Given the description of an element on the screen output the (x, y) to click on. 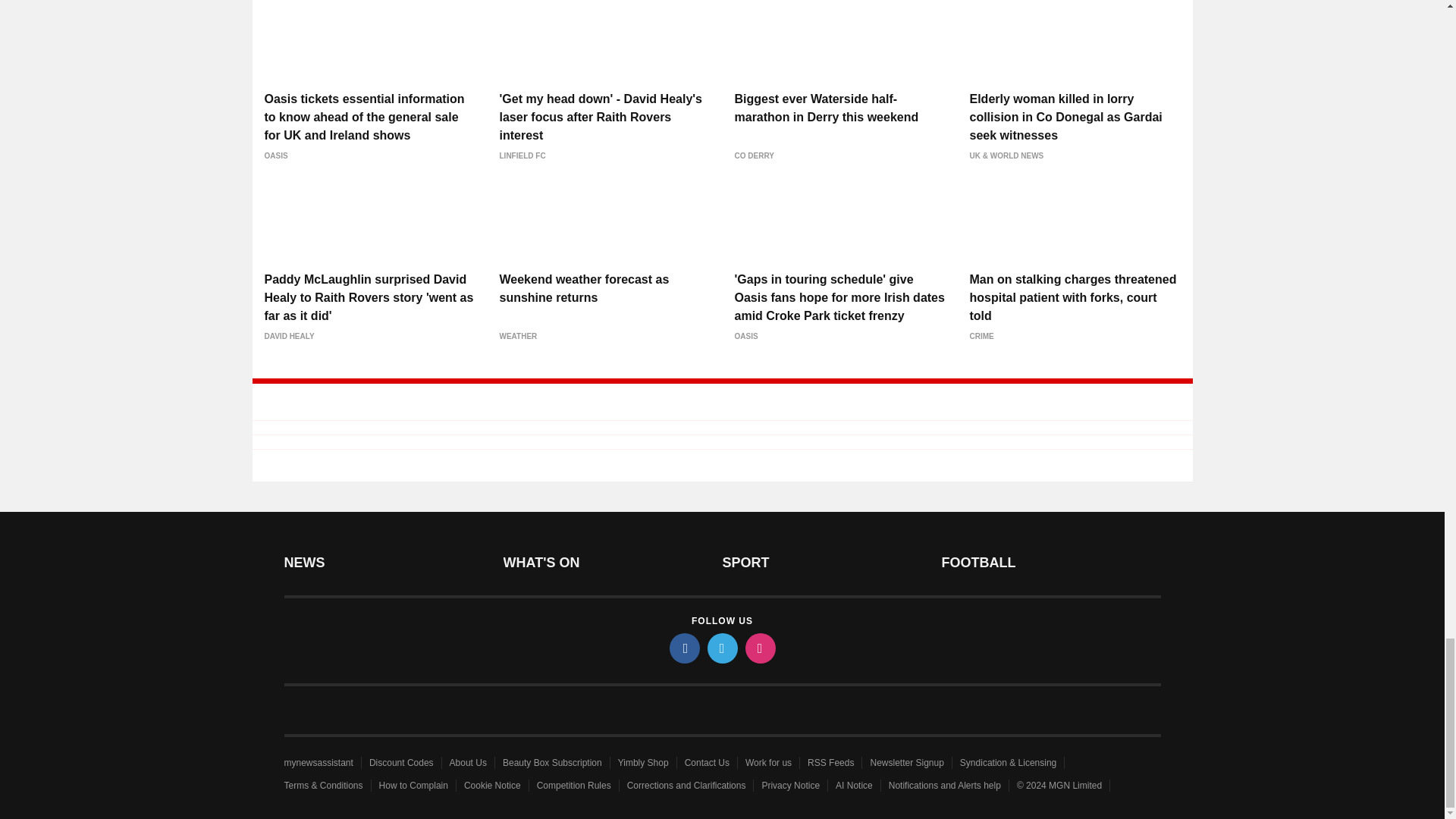
instagram (759, 648)
facebook (683, 648)
twitter (721, 648)
